Given the description of an element on the screen output the (x, y) to click on. 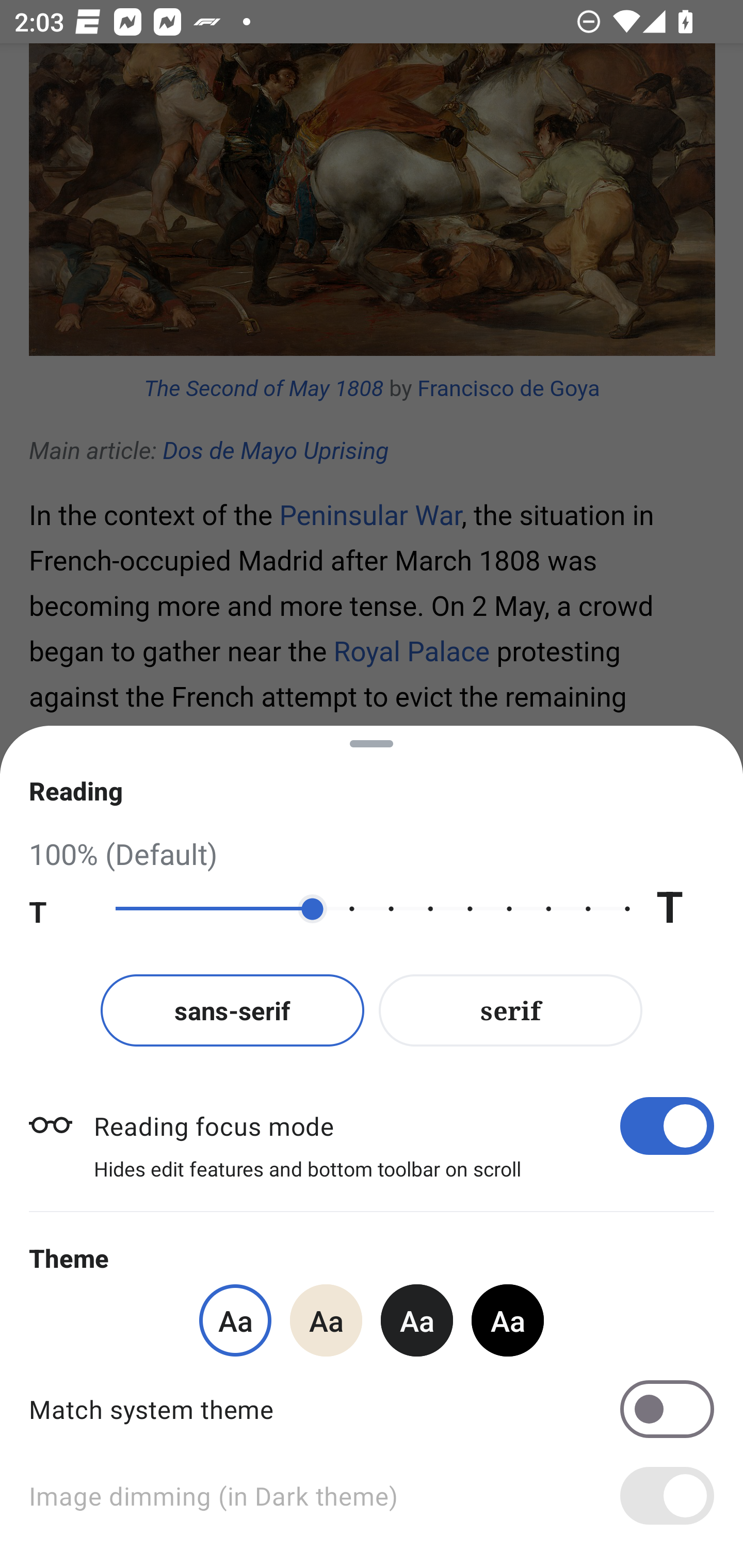
T Decrease text size (57, 909)
T Increase text size (685, 909)
sans-serif (232, 1010)
serif (510, 1010)
Reading focus mode (403, 1125)
Aa (325, 1320)
Aa (416, 1320)
Aa (507, 1320)
Match system theme (371, 1408)
Image dimming (in Dark theme) (371, 1495)
